Given the description of an element on the screen output the (x, y) to click on. 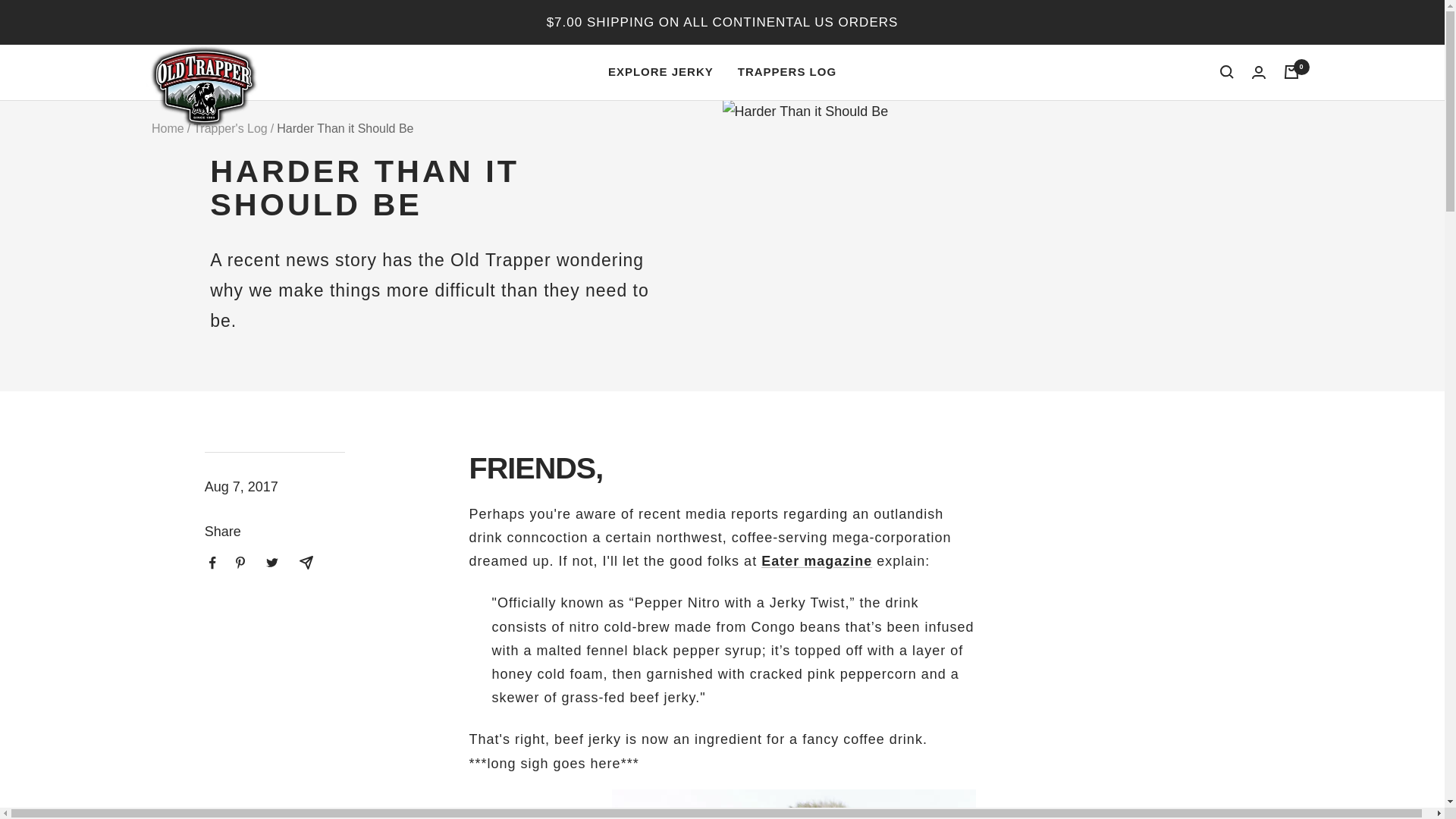
Home (167, 128)
EXPLORE JERKY (660, 71)
Old Trapper Beef Jerky (202, 85)
Trapper's Log (230, 128)
TRAPPERS LOG (786, 71)
0 (1291, 71)
